Given the description of an element on the screen output the (x, y) to click on. 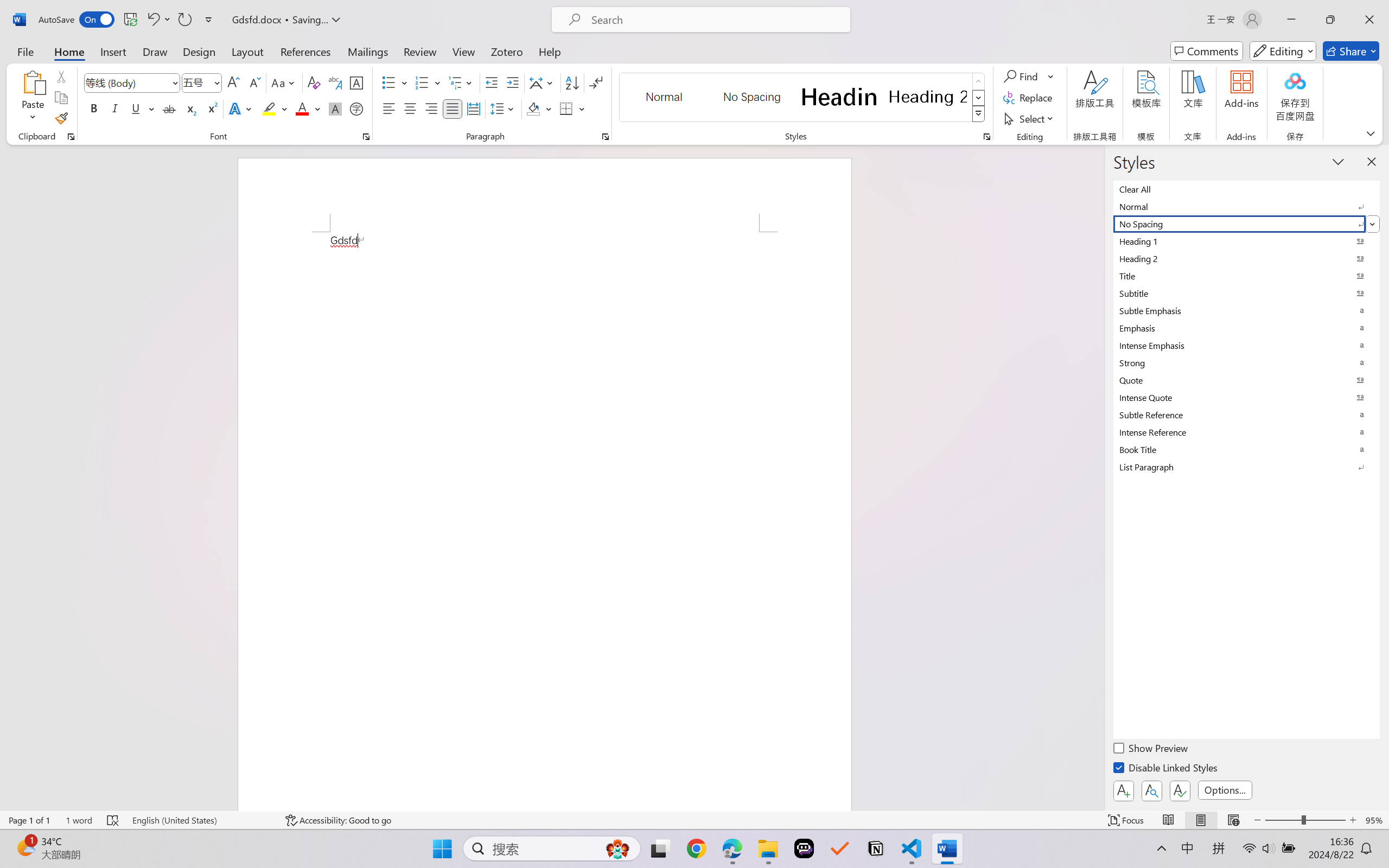
Text Highlight Color Yellow (269, 108)
Distributed (473, 108)
Intense Reference (1246, 431)
Clear Formatting (313, 82)
Center (409, 108)
